Given the description of an element on the screen output the (x, y) to click on. 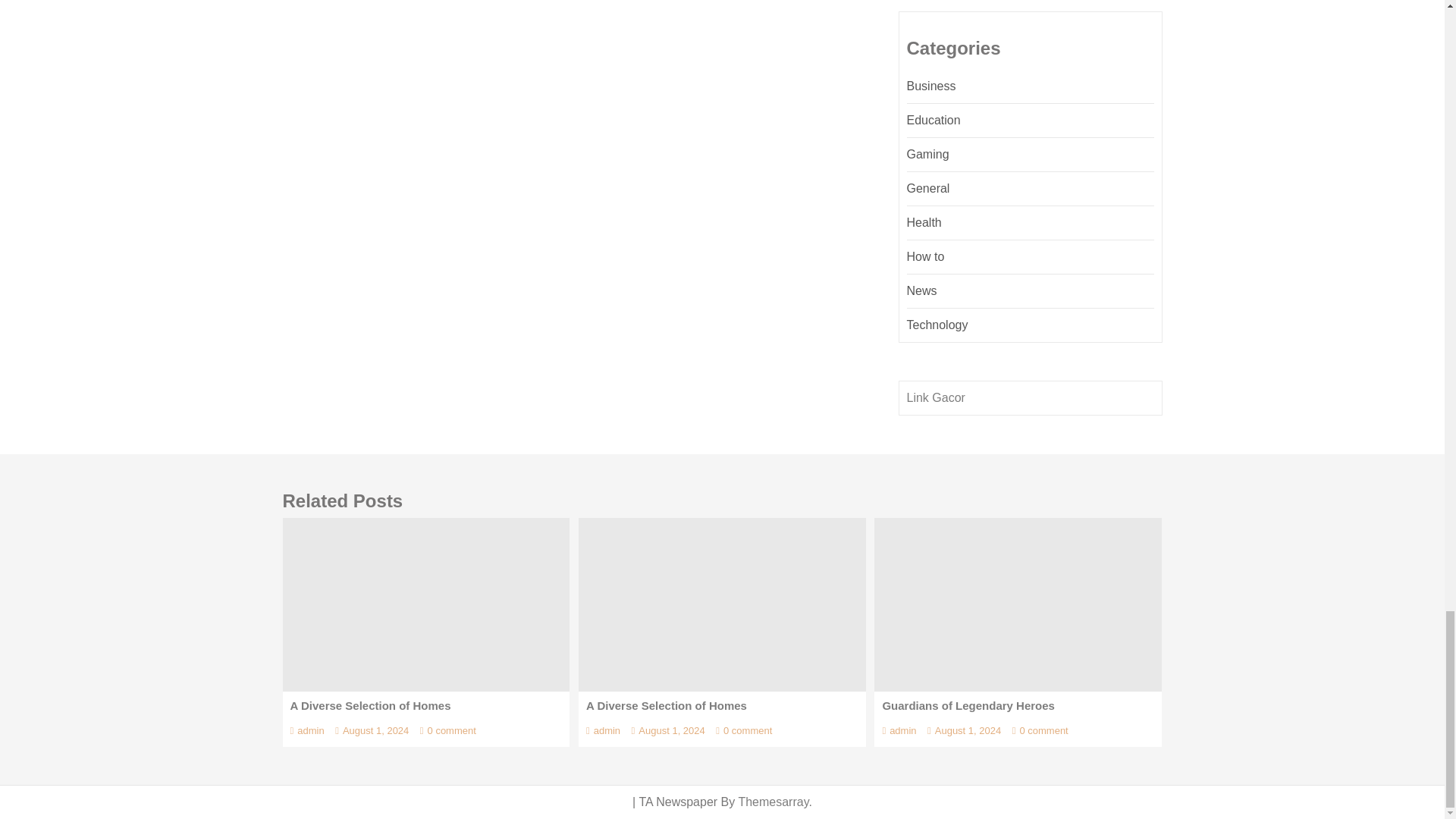
Guardians of Legendary Heroes (1018, 604)
A Diverse Selection of Homes (722, 604)
A Diverse Selection of Homes (425, 604)
